Given the description of an element on the screen output the (x, y) to click on. 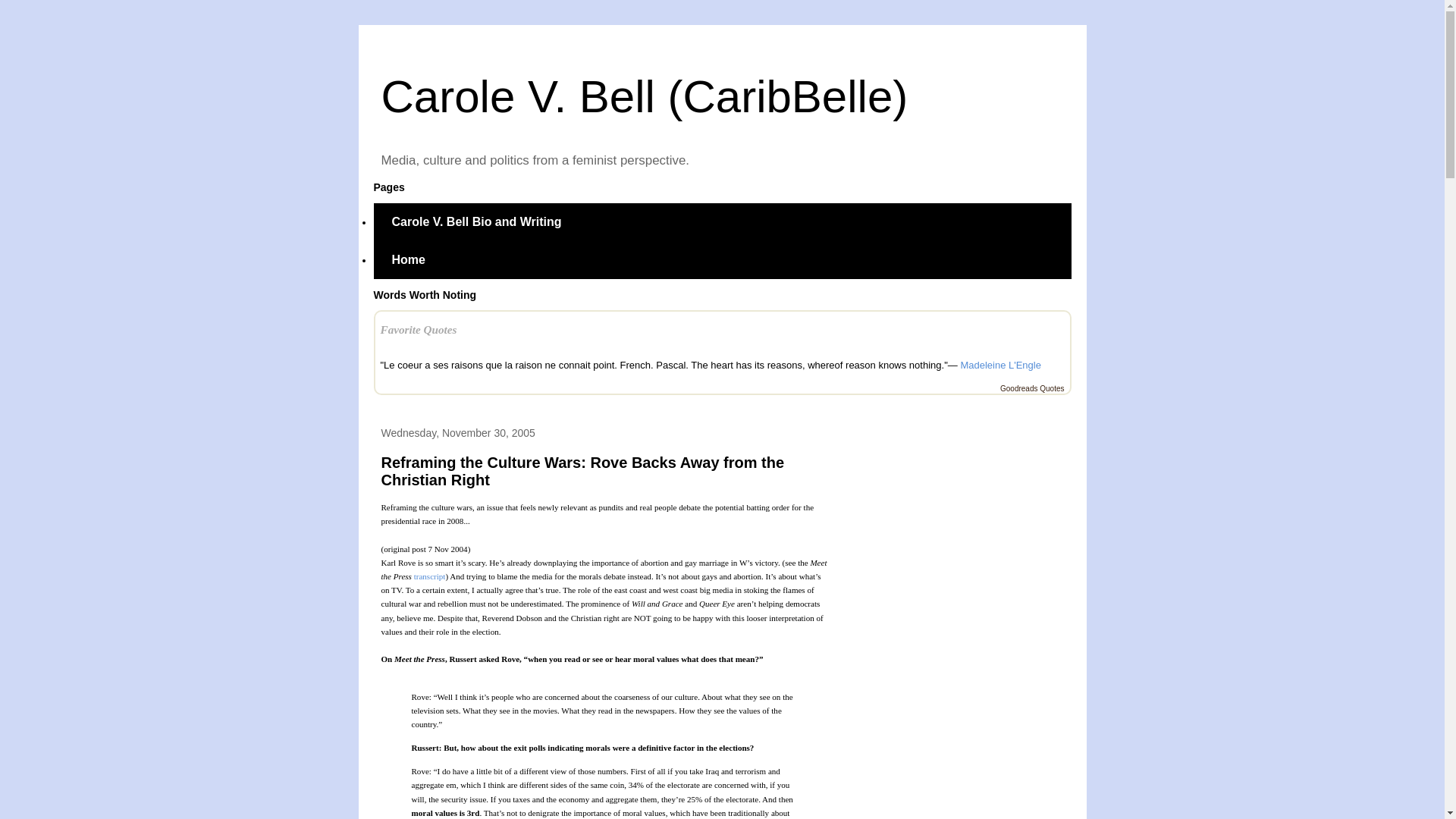
Madeleine L'Engle quotes (1000, 365)
Madeleine L'Engle (1000, 365)
Favorite Quotes (418, 328)
Goodreads Quotes (1032, 388)
transcript (429, 575)
Home (407, 259)
Carole V. Bell Bio and Writing (475, 221)
